Given the description of an element on the screen output the (x, y) to click on. 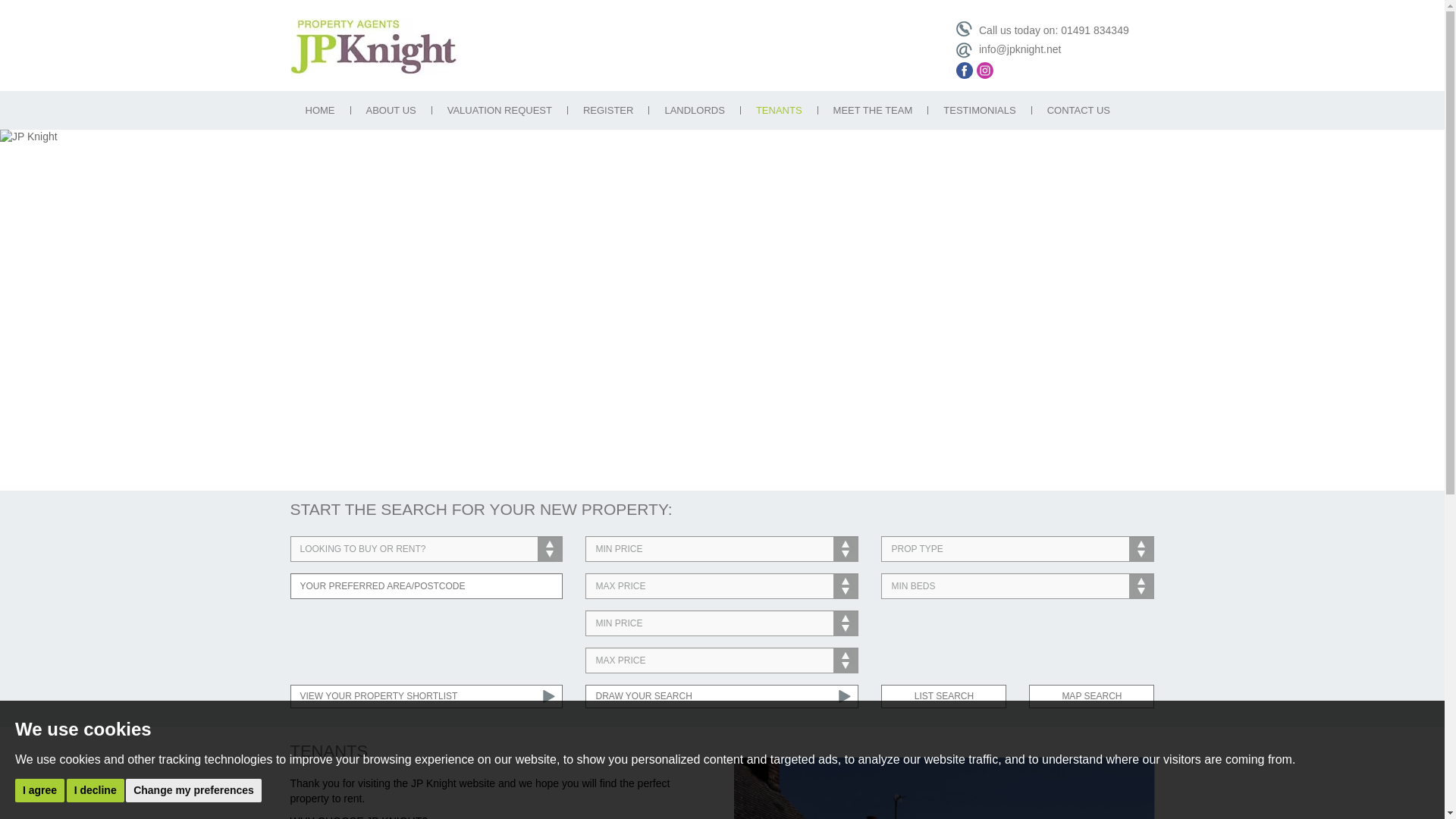
I agree (39, 789)
Call us today on: 01491 834349 (1042, 30)
Change my preferences (193, 789)
HOME (319, 110)
VALUATION REQUEST (499, 110)
MAP SEARCH (1091, 696)
TENANTS (778, 110)
TESTIMONIALS (979, 110)
LANDLORDS (694, 110)
CONTACT US (1078, 110)
REGISTER (607, 110)
LIST SEARCH (943, 696)
I decline (94, 789)
ABOUT US (390, 110)
VIEW YOUR PROPERTY SHORTLIST (425, 696)
